Given the description of an element on the screen output the (x, y) to click on. 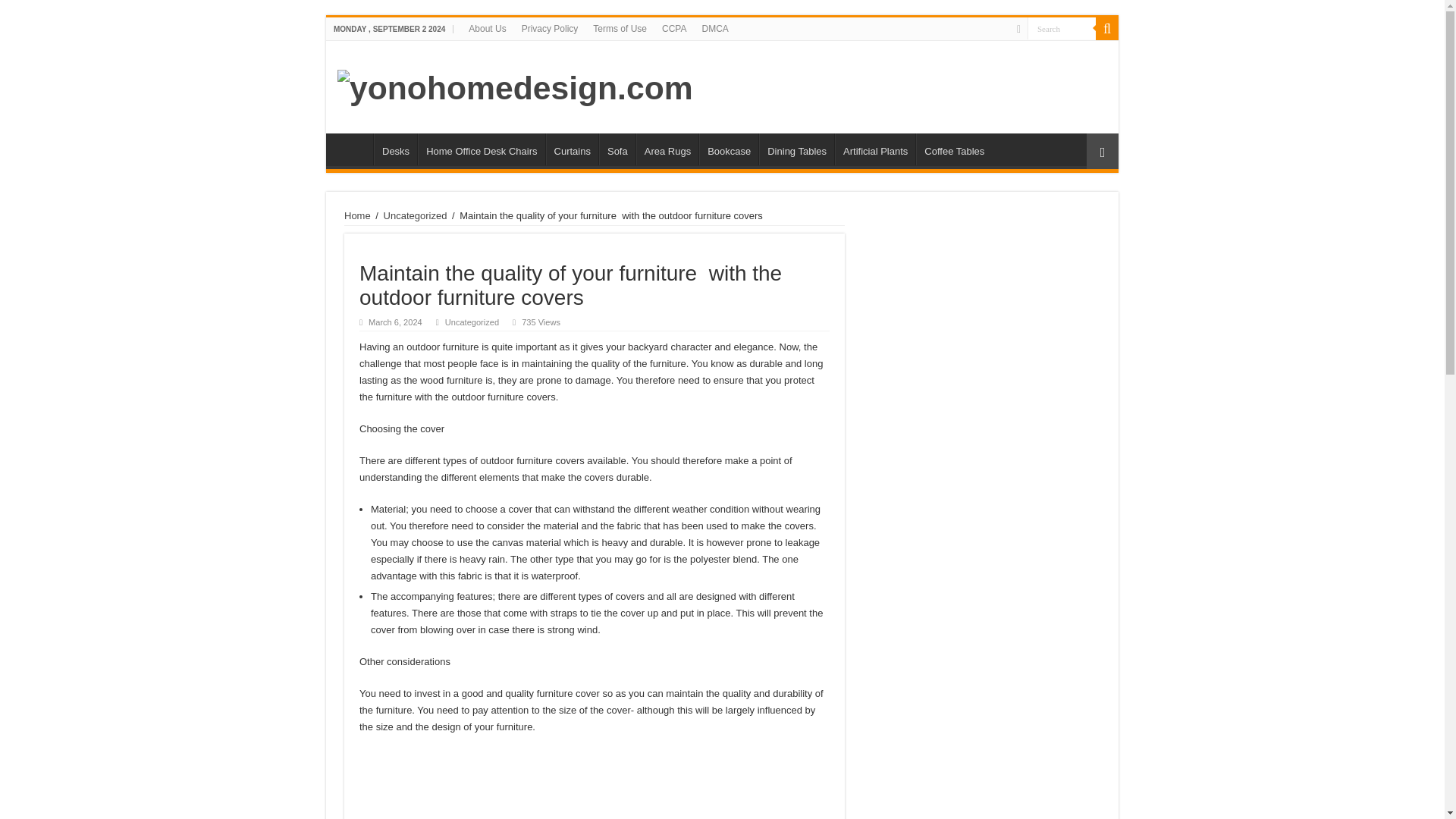
HOME (352, 149)
Uncategorized (415, 215)
Search (1061, 28)
Desks (395, 149)
Home Office Desk Chairs (480, 149)
About Us (487, 28)
Home (357, 215)
Bookcase (728, 149)
Search (1107, 28)
Area Rugs (667, 149)
